Given the description of an element on the screen output the (x, y) to click on. 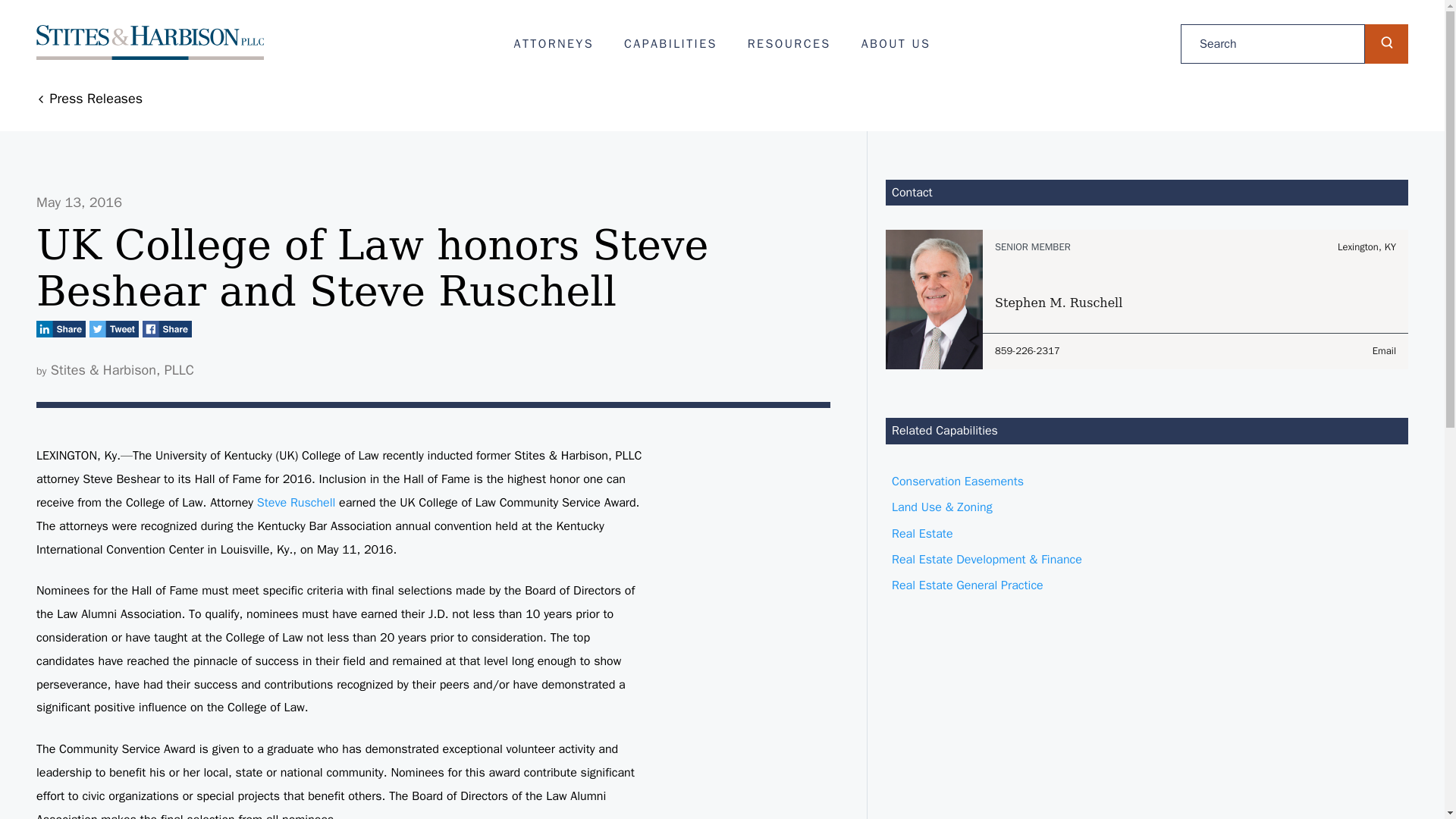
Real Estate (1146, 533)
859-226-2317 (1095, 351)
Press Releases (89, 98)
Conservation Easements (1146, 481)
ABOUT US (895, 43)
Real Estate General Practice (1146, 585)
ATTORNEYS (553, 43)
Steve Ruschell (296, 502)
RESOURCES (789, 43)
CAPABILITIES (1194, 281)
